Given the description of an element on the screen output the (x, y) to click on. 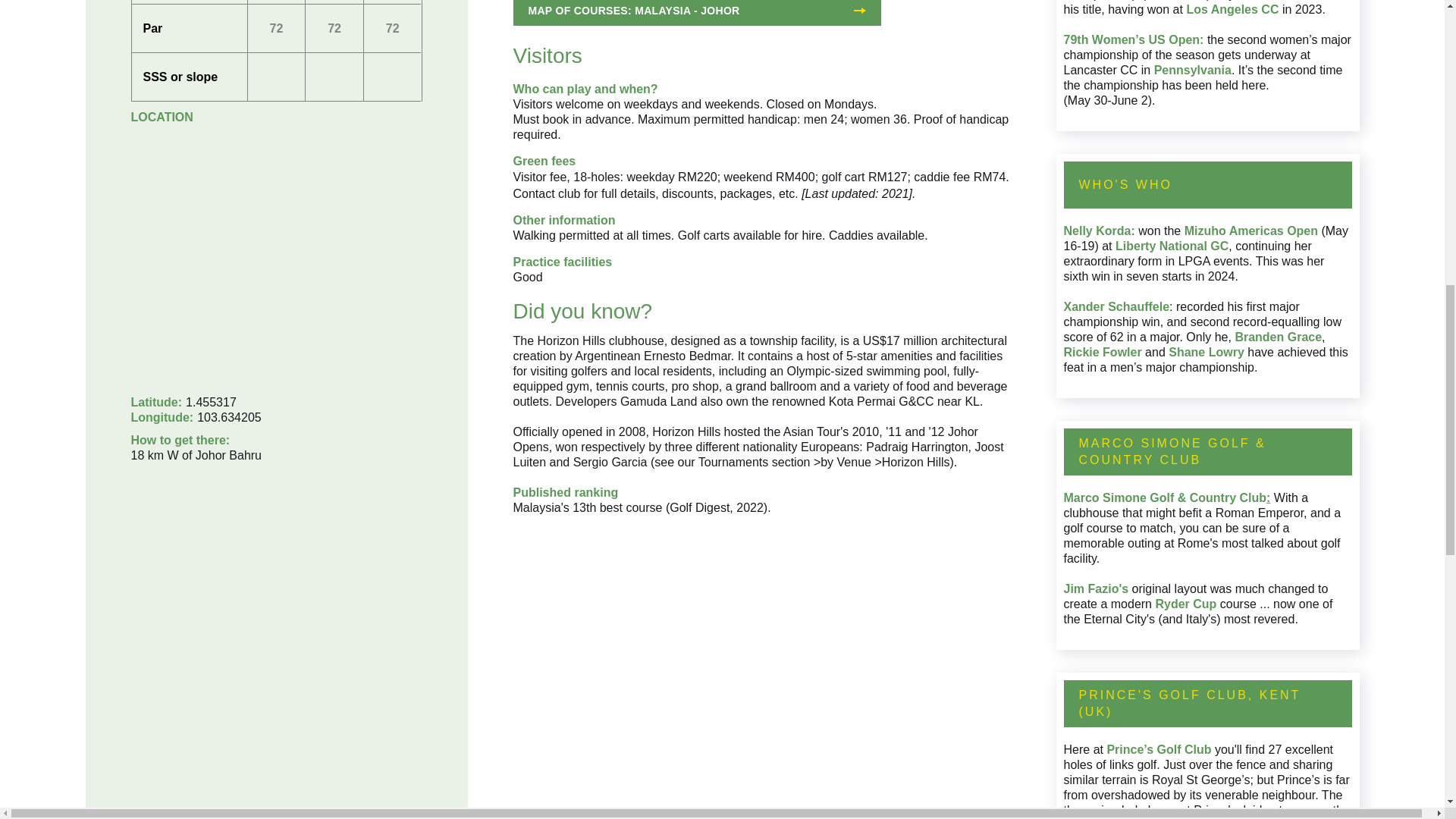
MAP OF COURSES: MALAYSIA - JOHOR (696, 12)
